Given the description of an element on the screen output the (x, y) to click on. 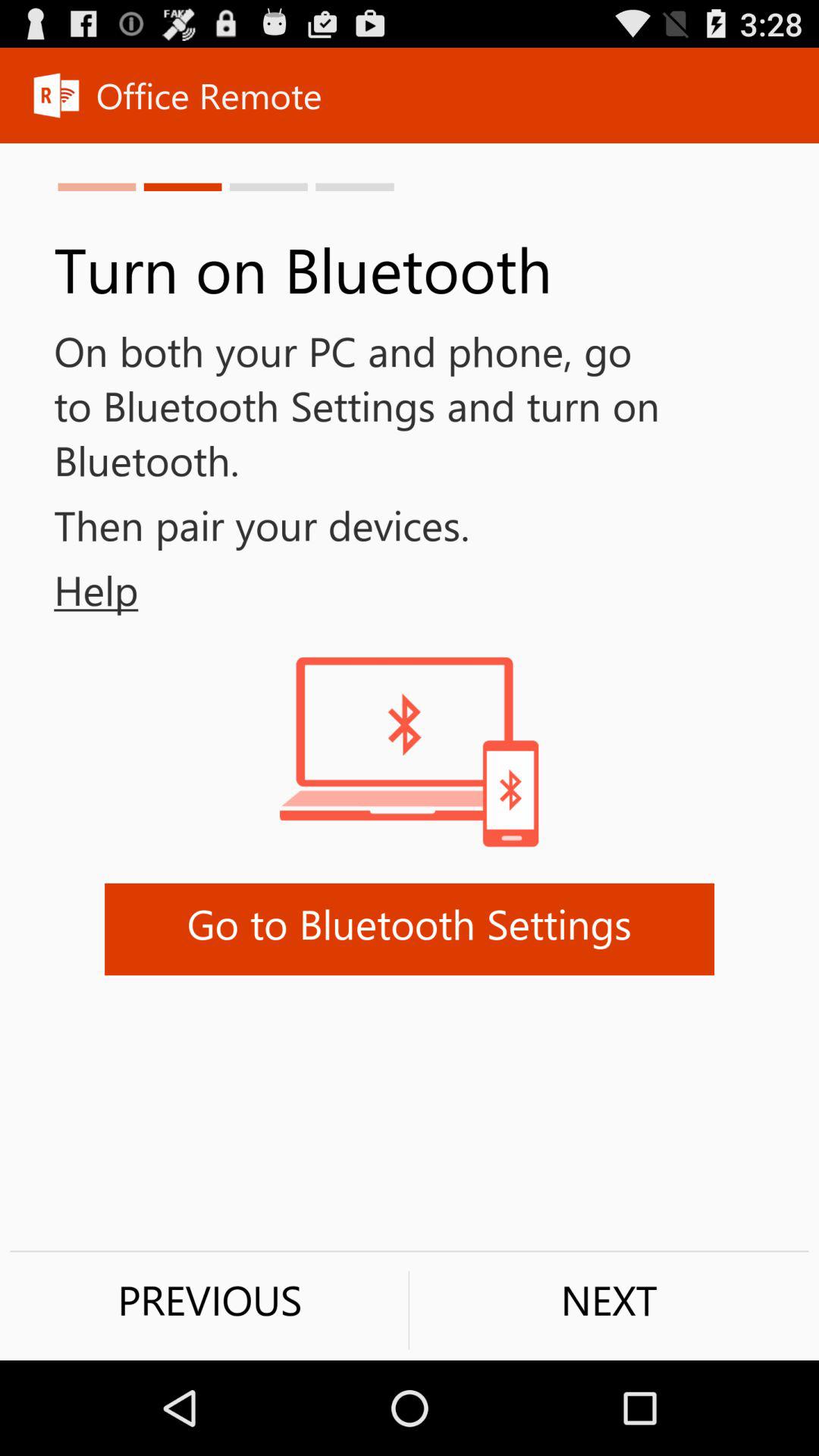
launch the button next to previous (608, 1300)
